Given the description of an element on the screen output the (x, y) to click on. 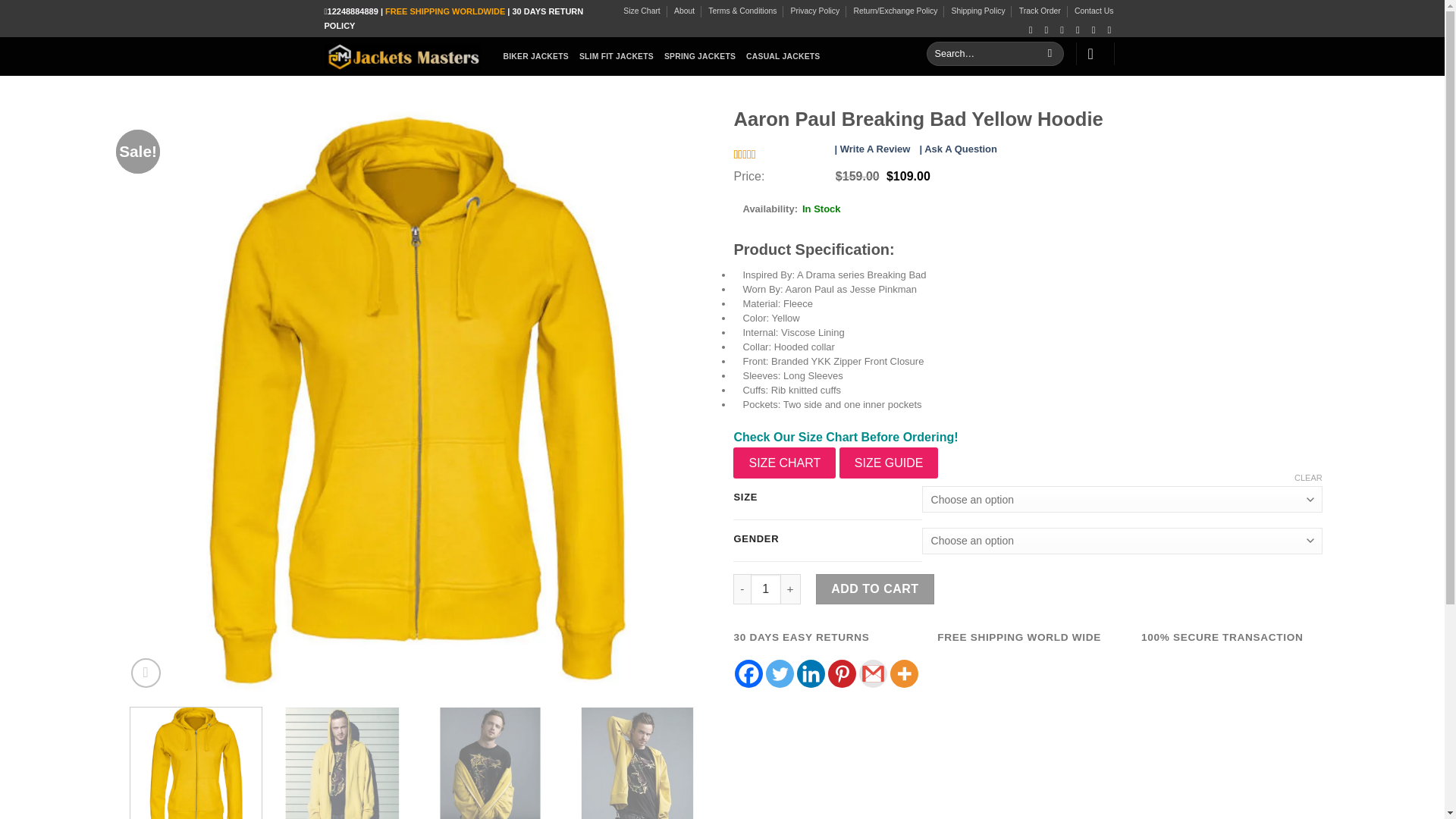
Size Chart (642, 11)
Jackets Masters (402, 56)
About (684, 11)
BIKER JACKETS (536, 56)
Track Order (1040, 11)
1 (765, 589)
12248884889 (352, 10)
Shipping Policy (979, 11)
Search (1050, 53)
SLIM FIT JACKETS (616, 56)
CASUAL JACKETS (782, 56)
Privacy Policy (815, 11)
Contact Us (1093, 11)
